Given the description of an element on the screen output the (x, y) to click on. 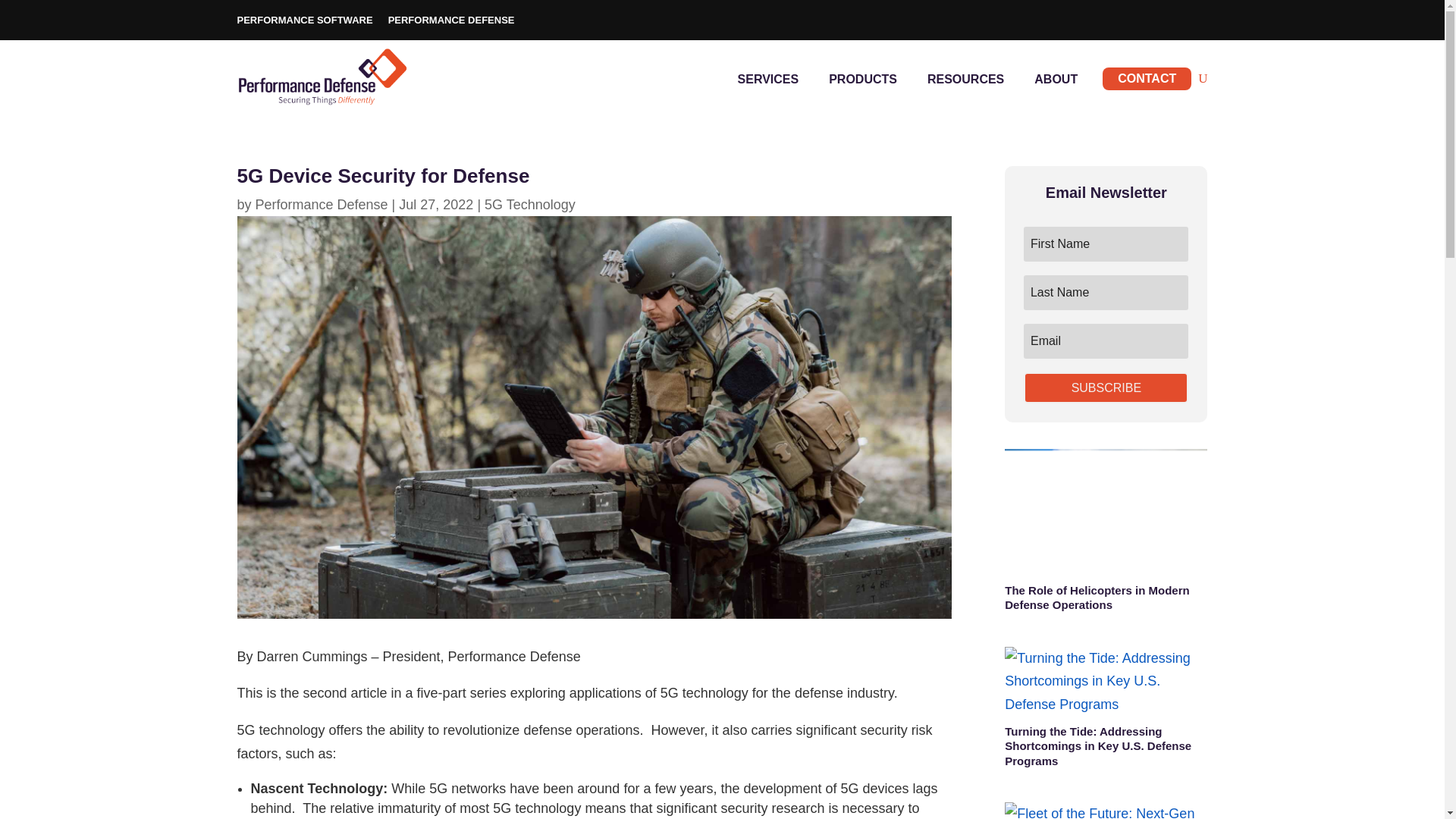
PERFORMANCE SOFTWARE (303, 19)
PRODUCTS (862, 78)
RESOURCES (965, 78)
SERVICES (767, 78)
ABOUT (1056, 78)
Performance Defense (322, 204)
SUBSCRIBE (1105, 387)
The Role of Helicopters in Modern Defense Operations (1096, 597)
Posts by Performance Defense (322, 204)
